Given the description of an element on the screen output the (x, y) to click on. 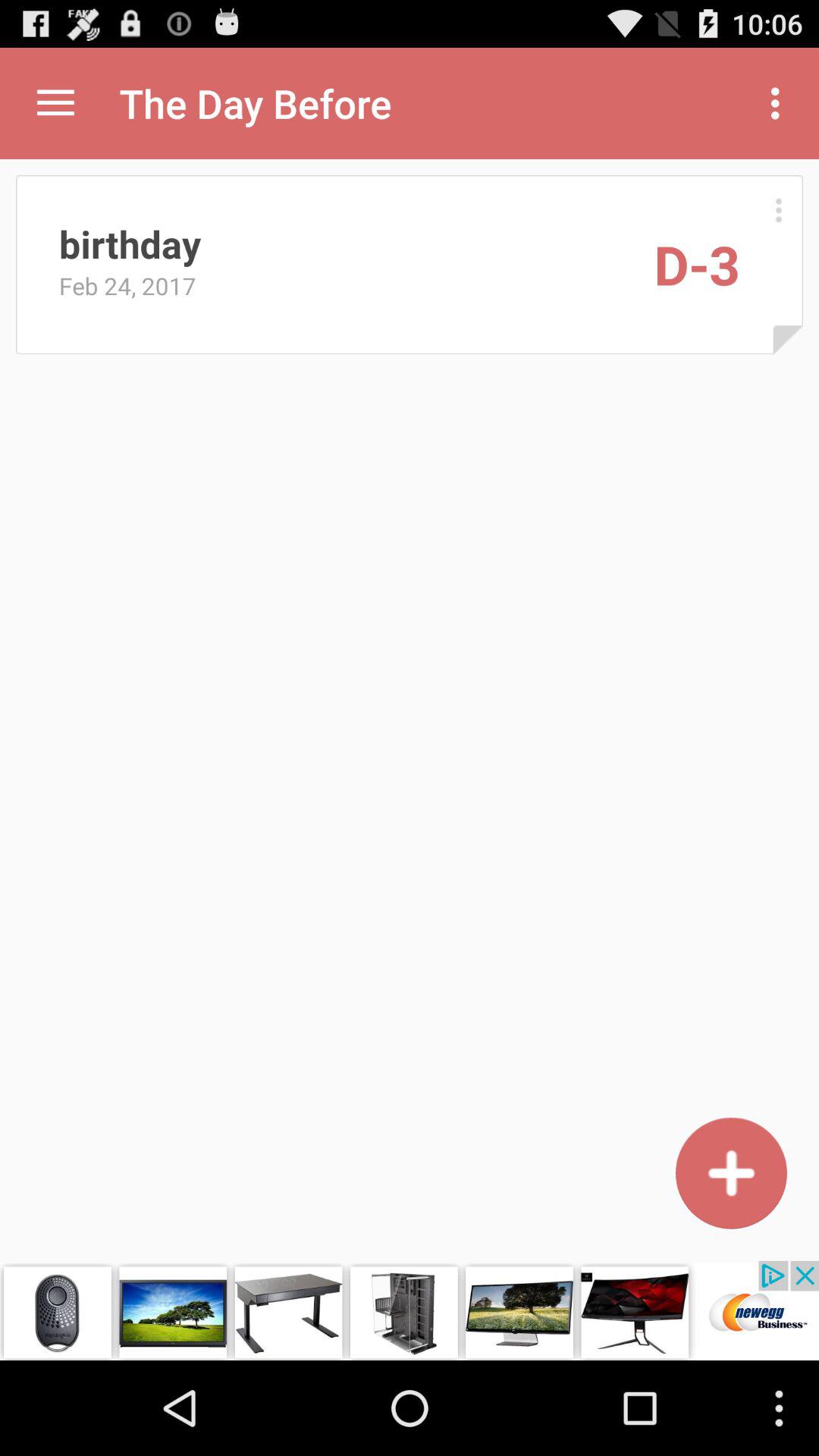
go to menu (55, 103)
